Given the description of an element on the screen output the (x, y) to click on. 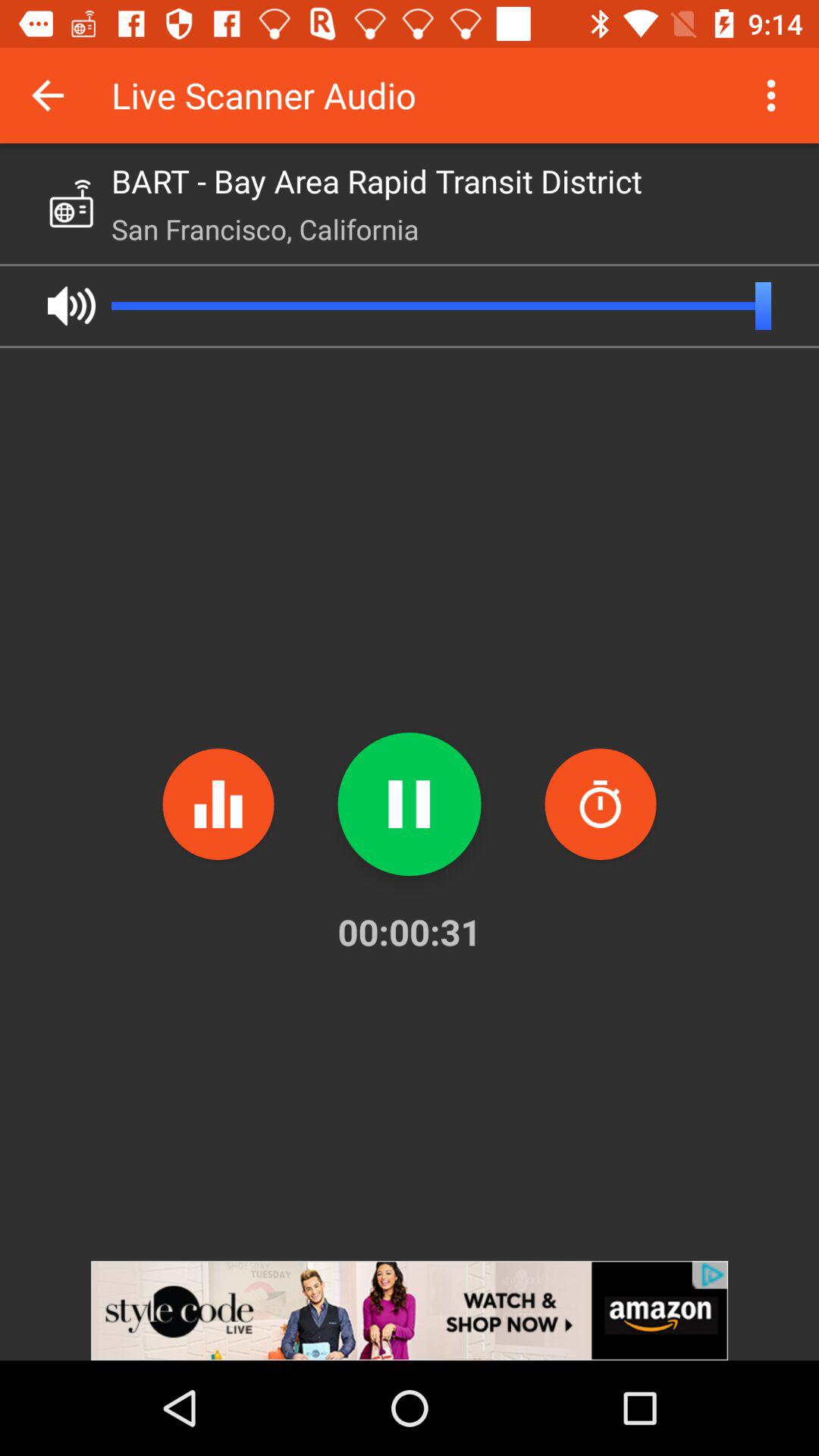
clock (600, 803)
